Given the description of an element on the screen output the (x, y) to click on. 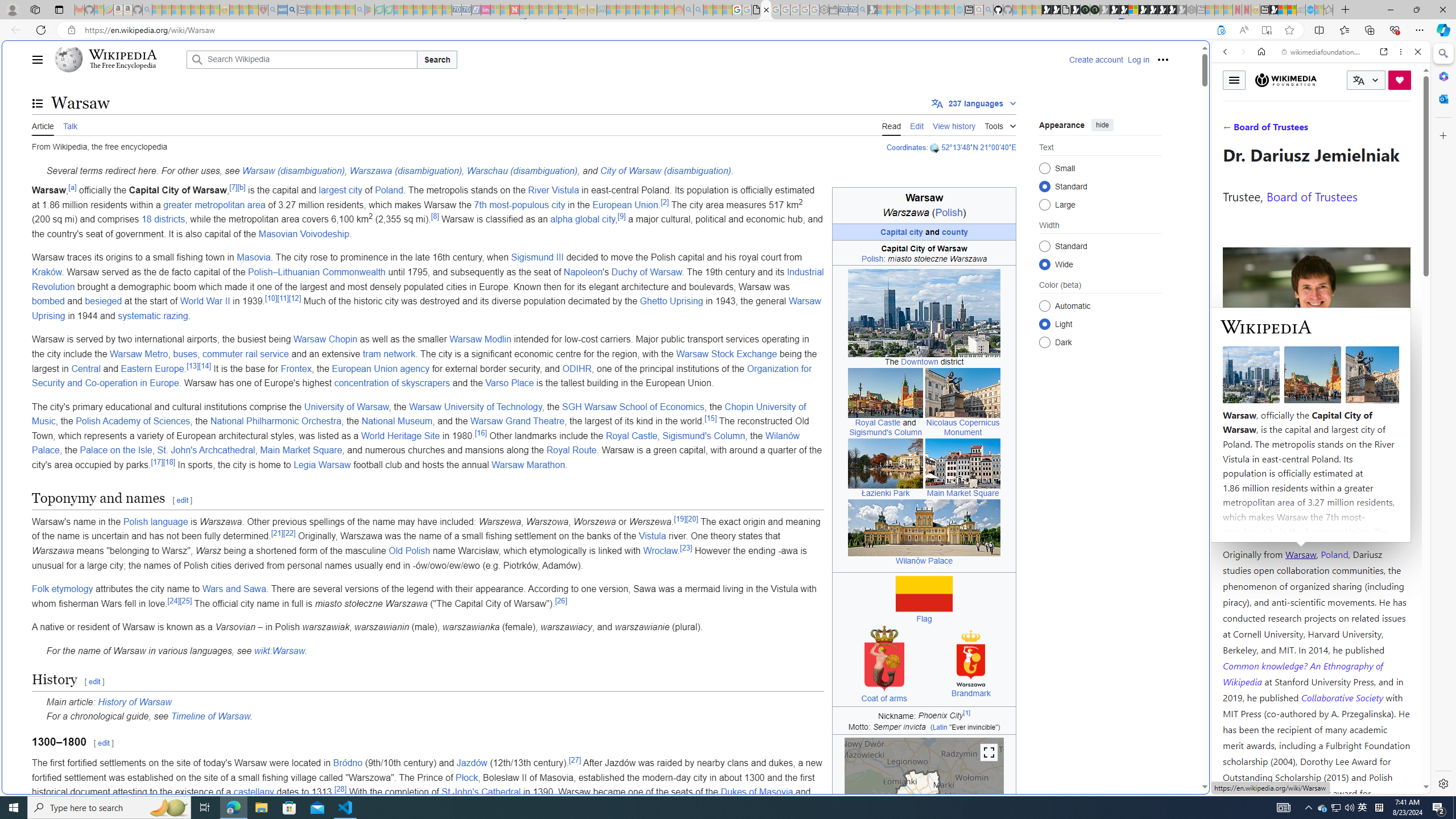
Sigismund III (537, 257)
Poland (1334, 554)
Standard (1044, 245)
University of Warsaw (346, 406)
Warsaw (1300, 554)
tram network (389, 353)
Donate now (1399, 80)
